Given the description of an element on the screen output the (x, y) to click on. 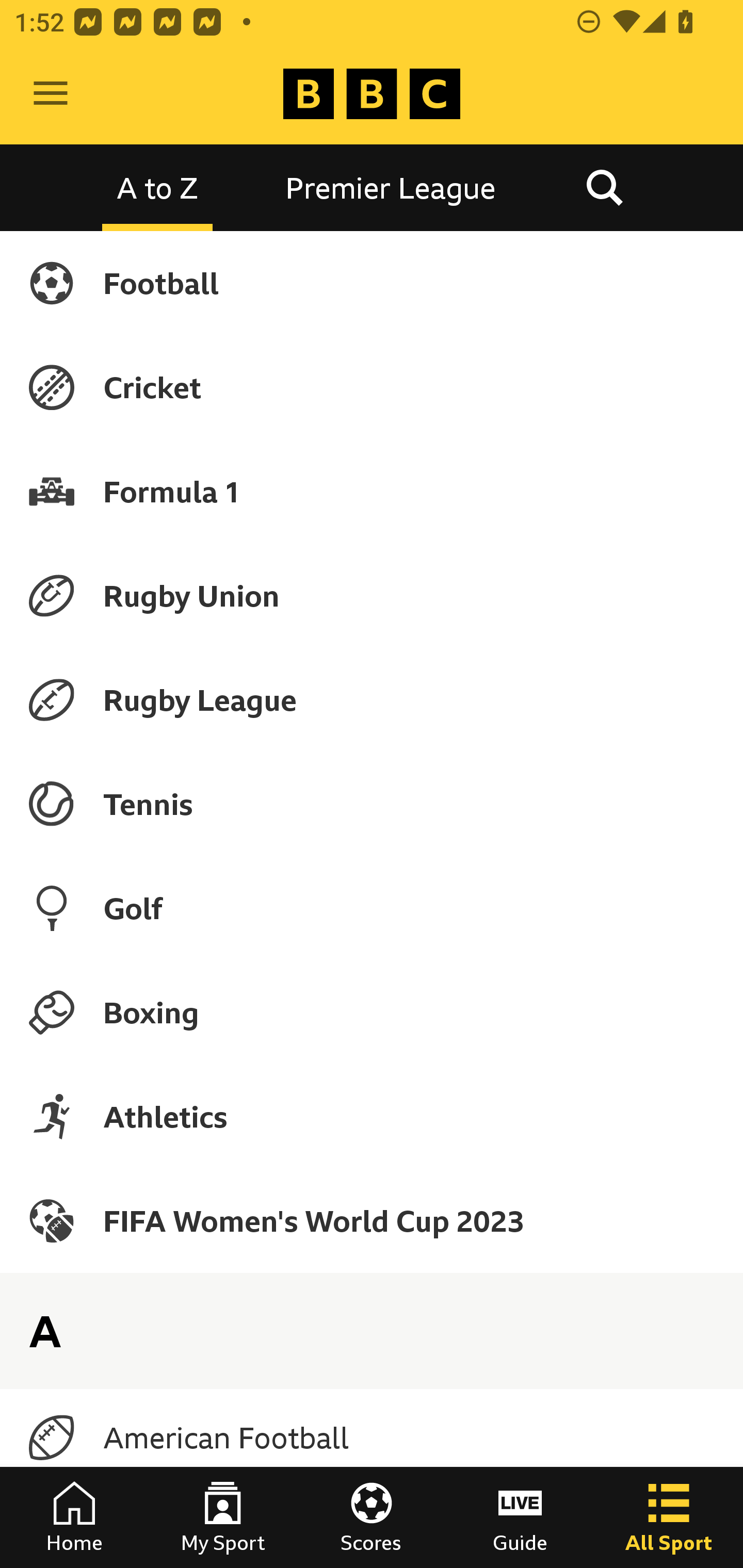
Open Menu (50, 93)
Premier League (390, 187)
Search (604, 187)
Football (371, 282)
Cricket (371, 387)
Formula 1 (371, 491)
Rugby Union (371, 595)
Rugby League (371, 699)
Tennis (371, 804)
Golf (371, 907)
Boxing (371, 1011)
Athletics (371, 1116)
FIFA Women's World Cup 2023 (371, 1220)
American Football (371, 1437)
Home (74, 1517)
My Sport (222, 1517)
Scores (371, 1517)
Guide (519, 1517)
